Given the description of an element on the screen output the (x, y) to click on. 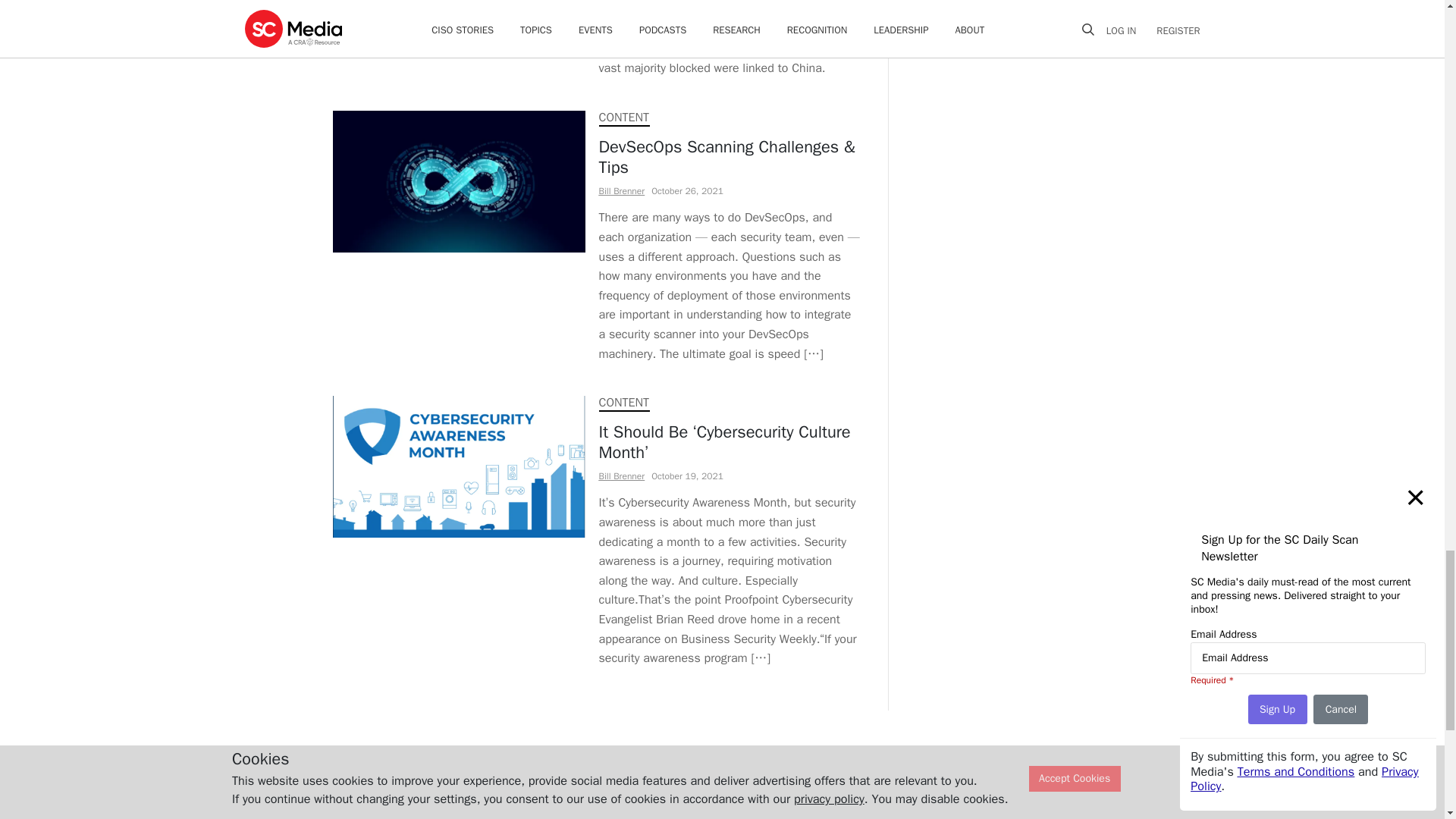
Bill Brenner (621, 191)
CONTENT (623, 402)
Bill Brenner (621, 476)
Steve Zurier (622, 4)
CONTENT (623, 117)
